Given the description of an element on the screen output the (x, y) to click on. 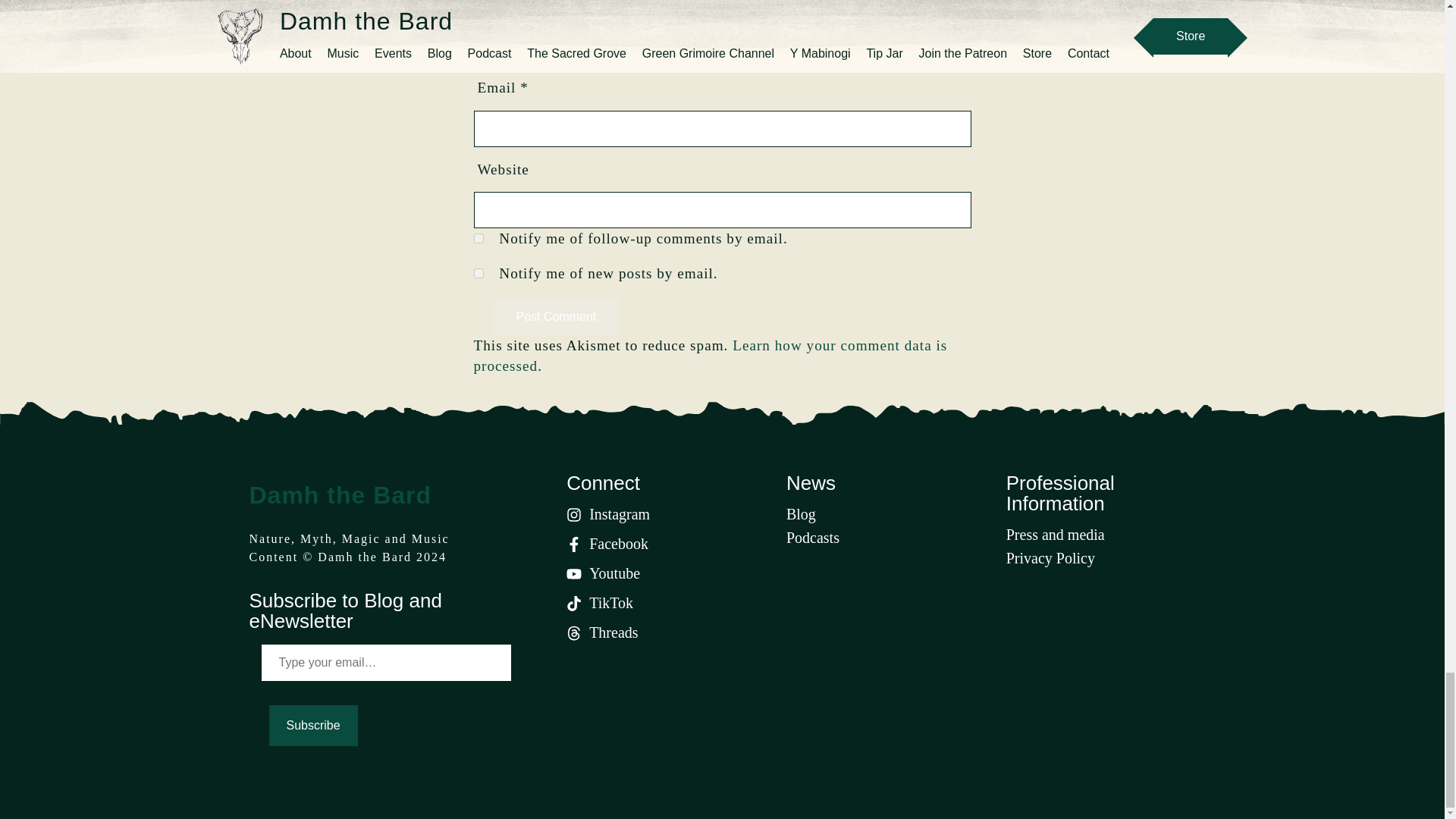
subscribe (478, 238)
Post Comment (555, 316)
subscribe (478, 273)
Please fill in this field. (385, 662)
